Given the description of an element on the screen output the (x, y) to click on. 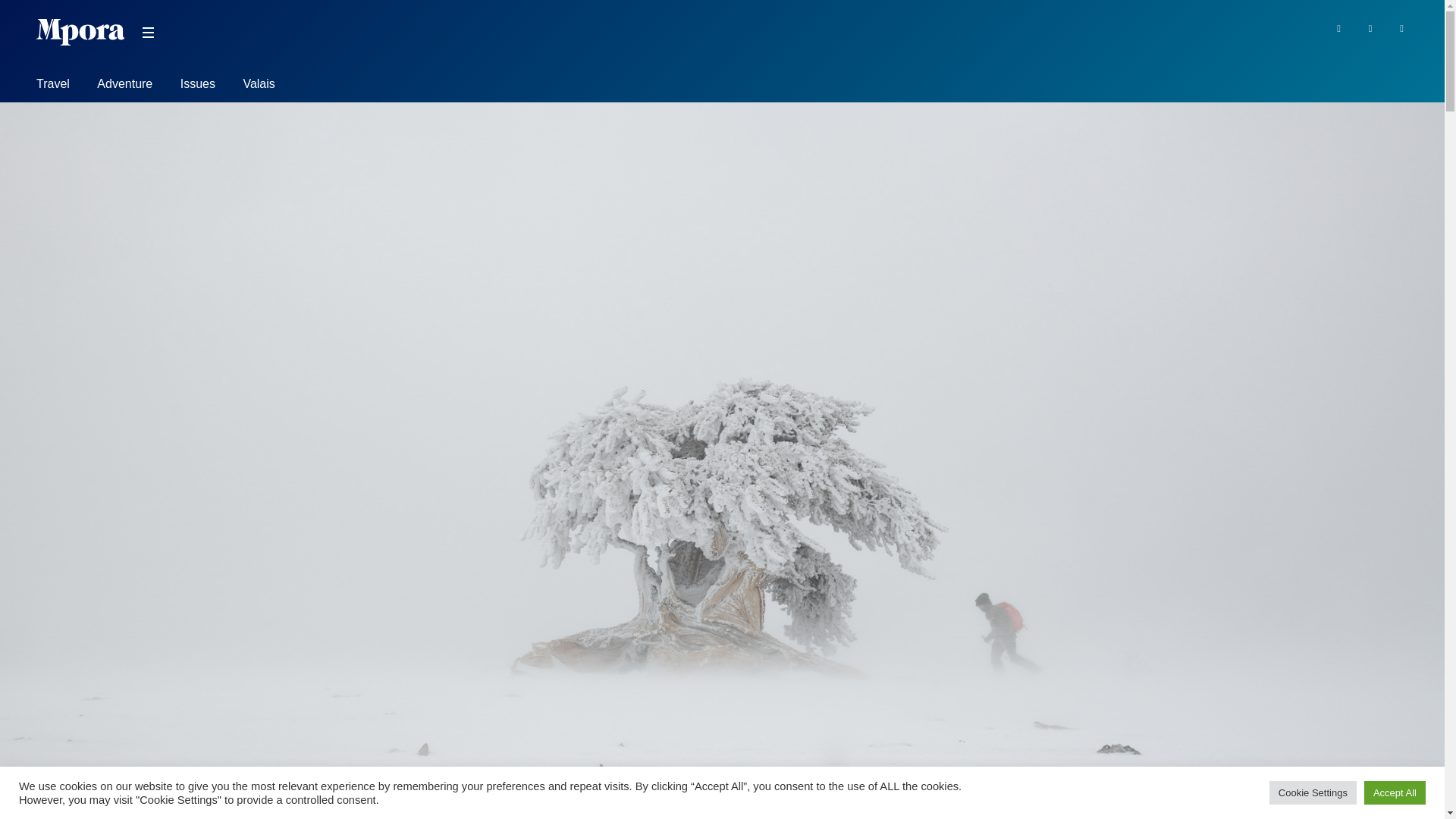
Adventure (124, 85)
Menu (147, 32)
Find us on Facebook (1338, 27)
Valais (259, 85)
Follow us on Twitter (1370, 27)
Travel (52, 85)
Issues (197, 85)
Find us on Instagram (1400, 27)
